Given the description of an element on the screen output the (x, y) to click on. 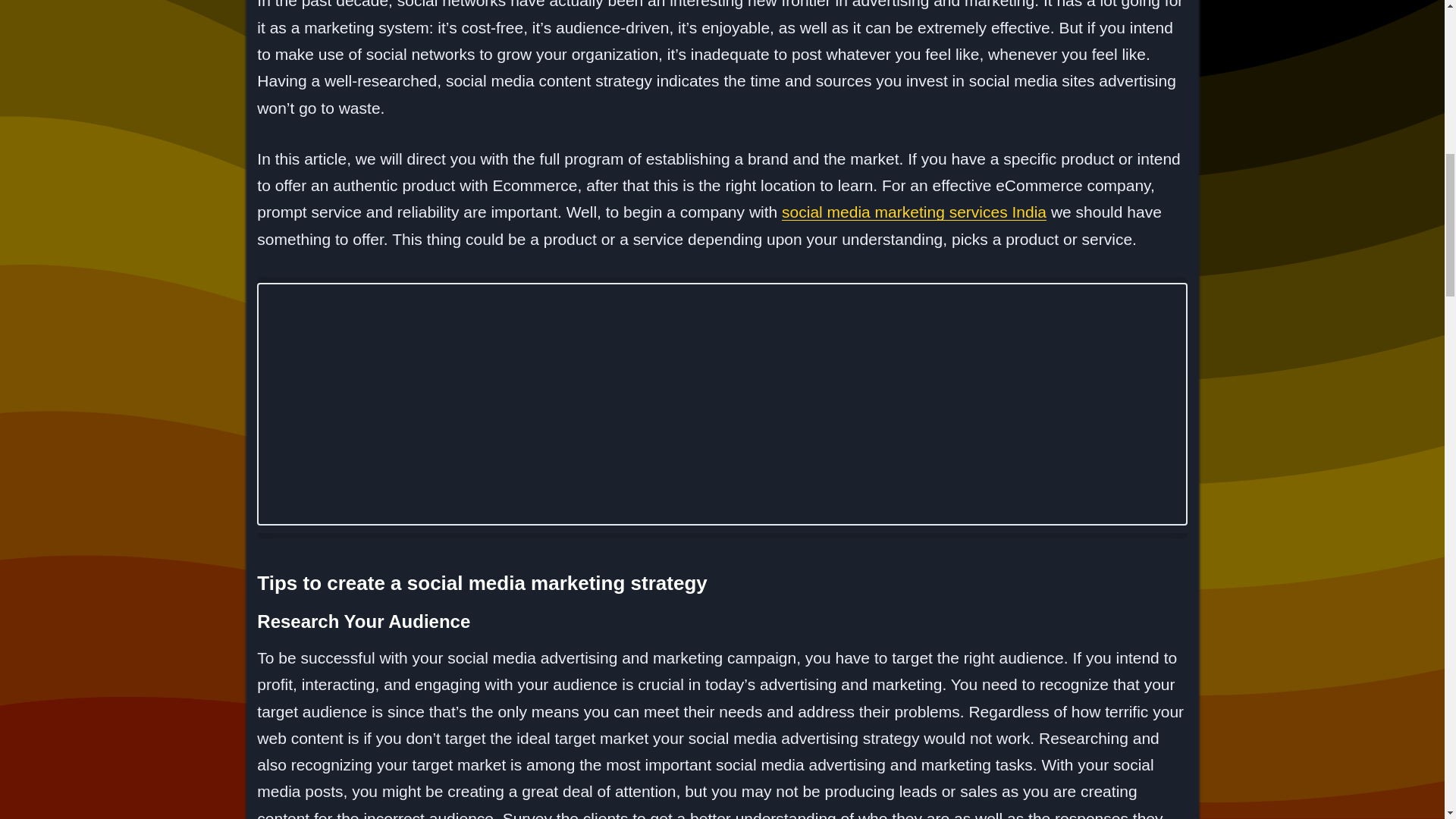
social media marketing services India (913, 211)
